Given the description of an element on the screen output the (x, y) to click on. 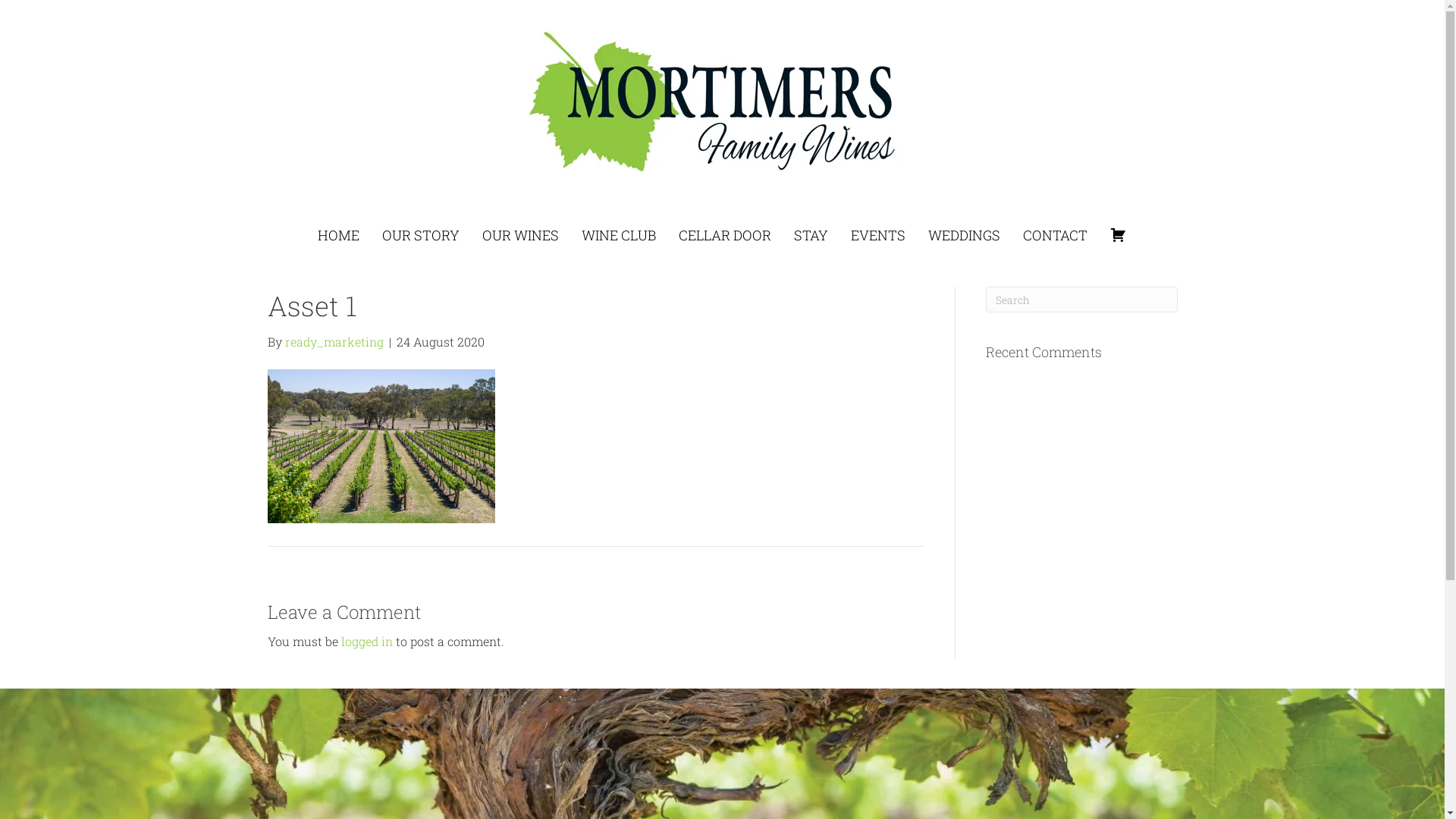
CART Element type: text (1118, 235)
EVENTS Element type: text (877, 235)
CELLAR DOOR Element type: text (724, 235)
logged in Element type: text (366, 641)
ready_marketing Element type: text (334, 341)
WEDDINGS Element type: text (963, 235)
OUR STORY Element type: text (420, 235)
Type and press Enter to search. Element type: hover (1081, 299)
HOME Element type: text (338, 235)
STAY Element type: text (810, 235)
CONTACT Element type: text (1054, 235)
WINE CLUB Element type: text (618, 235)
OUR WINES Element type: text (520, 235)
